Given the description of an element on the screen output the (x, y) to click on. 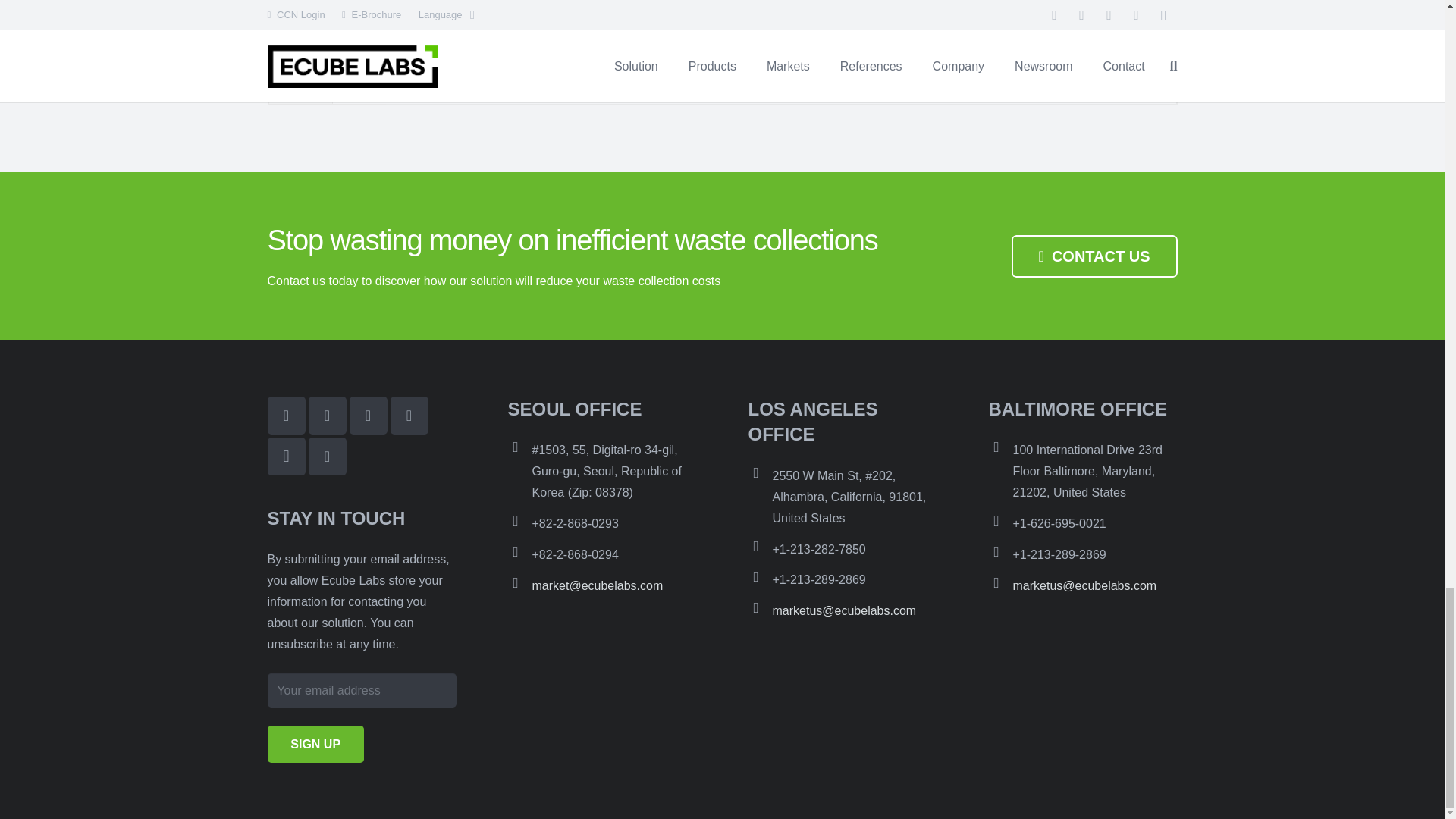
Instagram (285, 456)
Skype (326, 456)
Sign up (314, 743)
LinkedIn (368, 415)
Facebook (285, 415)
Twitter (326, 415)
YouTube (409, 415)
